Given the description of an element on the screen output the (x, y) to click on. 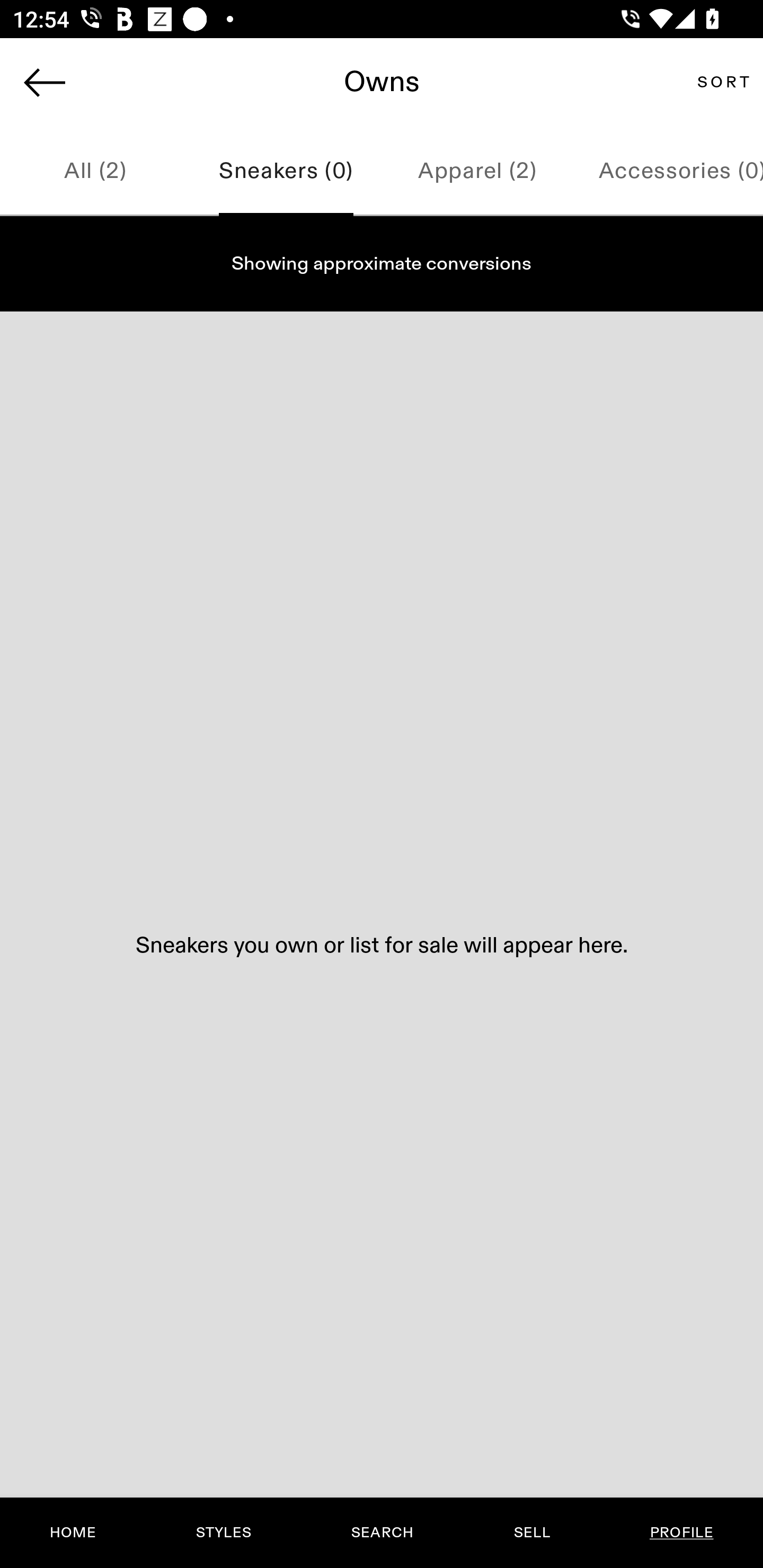
SORT (722, 81)
All (2) (95, 171)
Apparel (2) (476, 171)
Accessories (0) (667, 171)
HOME (72, 1532)
STYLES (222, 1532)
SEARCH (381, 1532)
SELL (531, 1532)
PROFILE (681, 1532)
